Given the description of an element on the screen output the (x, y) to click on. 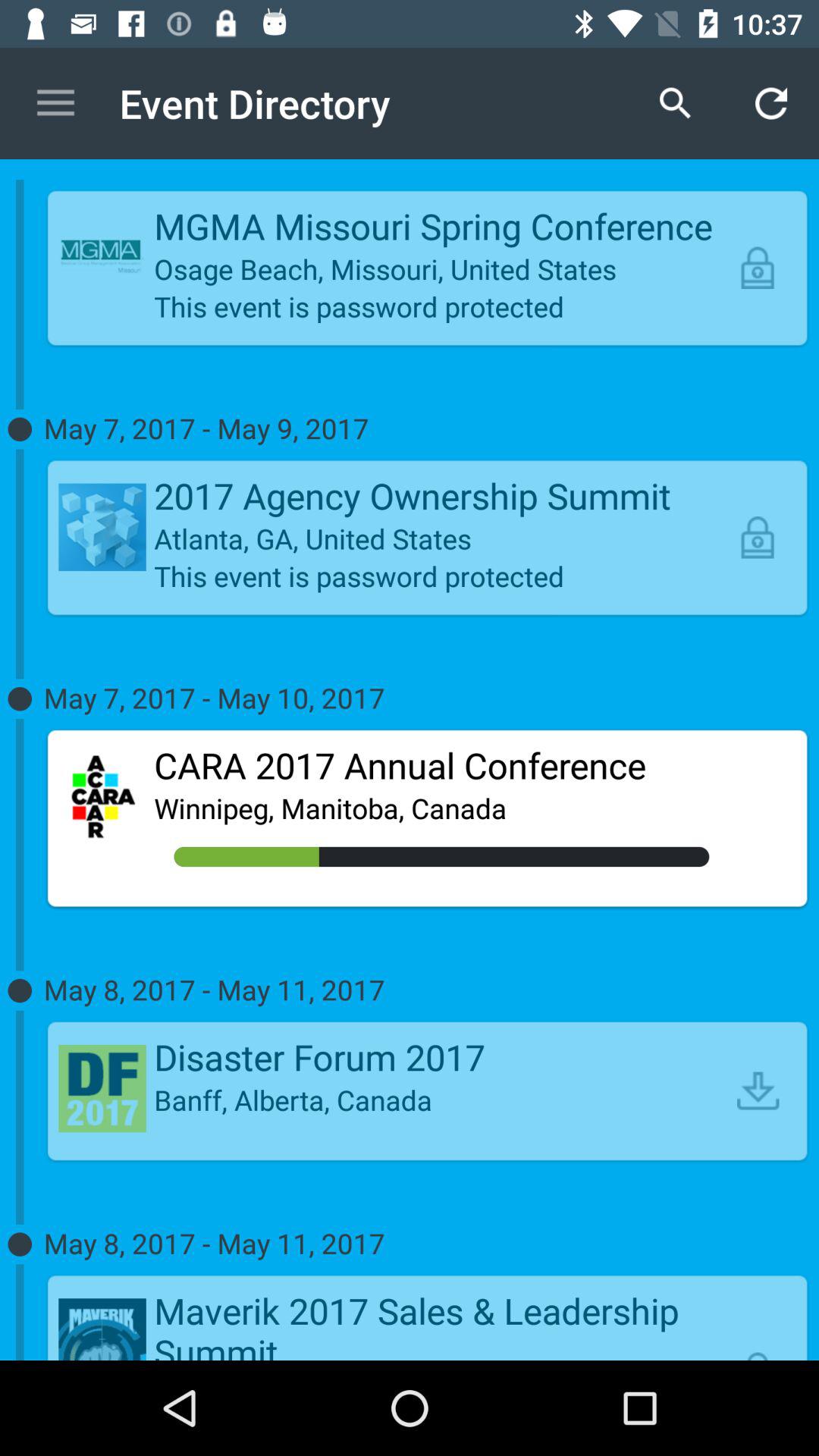
flip to the disaster forum 2017 item (441, 1056)
